Given the description of an element on the screen output the (x, y) to click on. 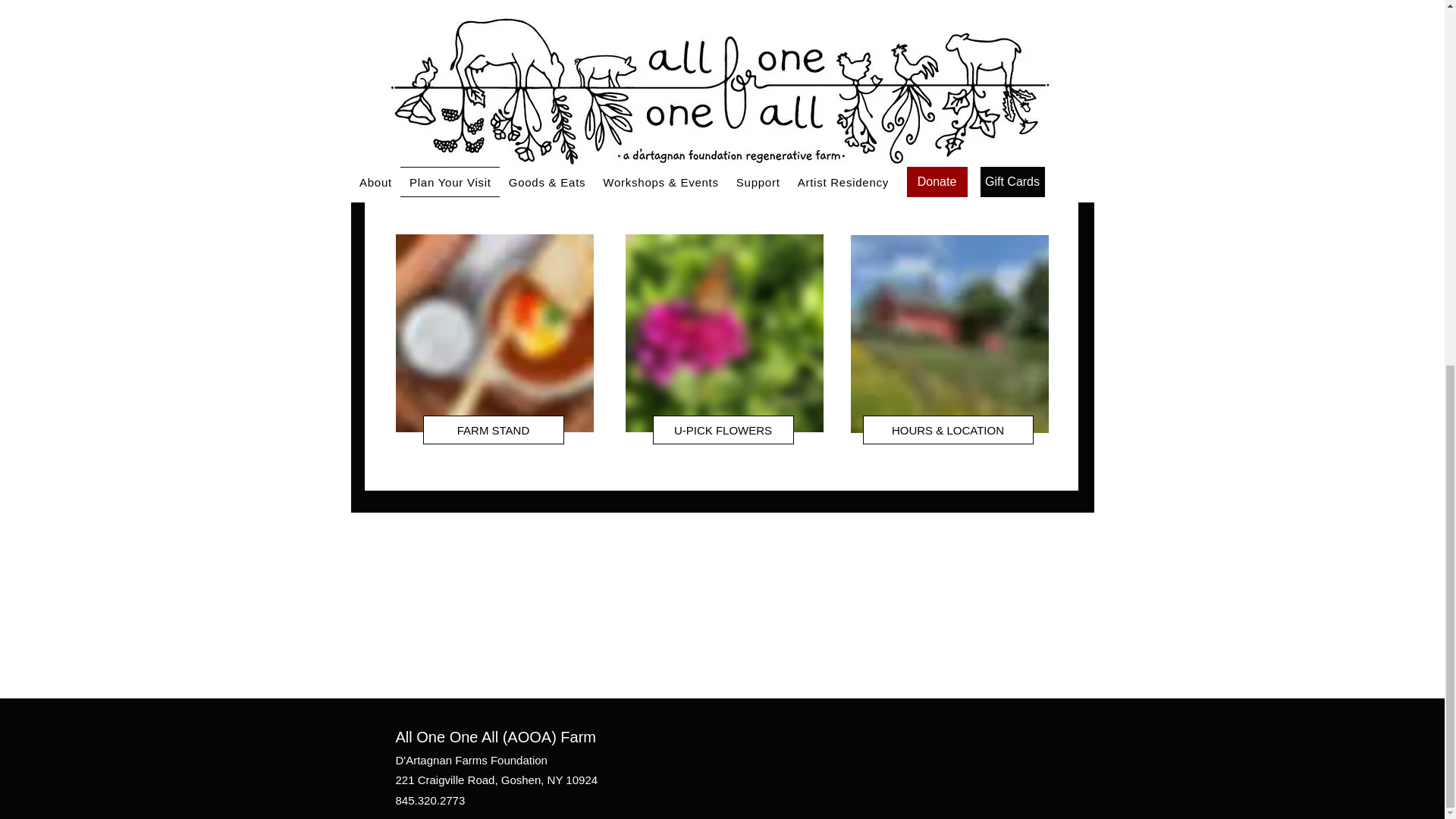
TOURS (499, 186)
PRIVATE GROUPS (955, 186)
U-PICK FLOWERS (722, 429)
WORKSHOPS (729, 186)
FARM STAND (493, 429)
